Given the description of an element on the screen output the (x, y) to click on. 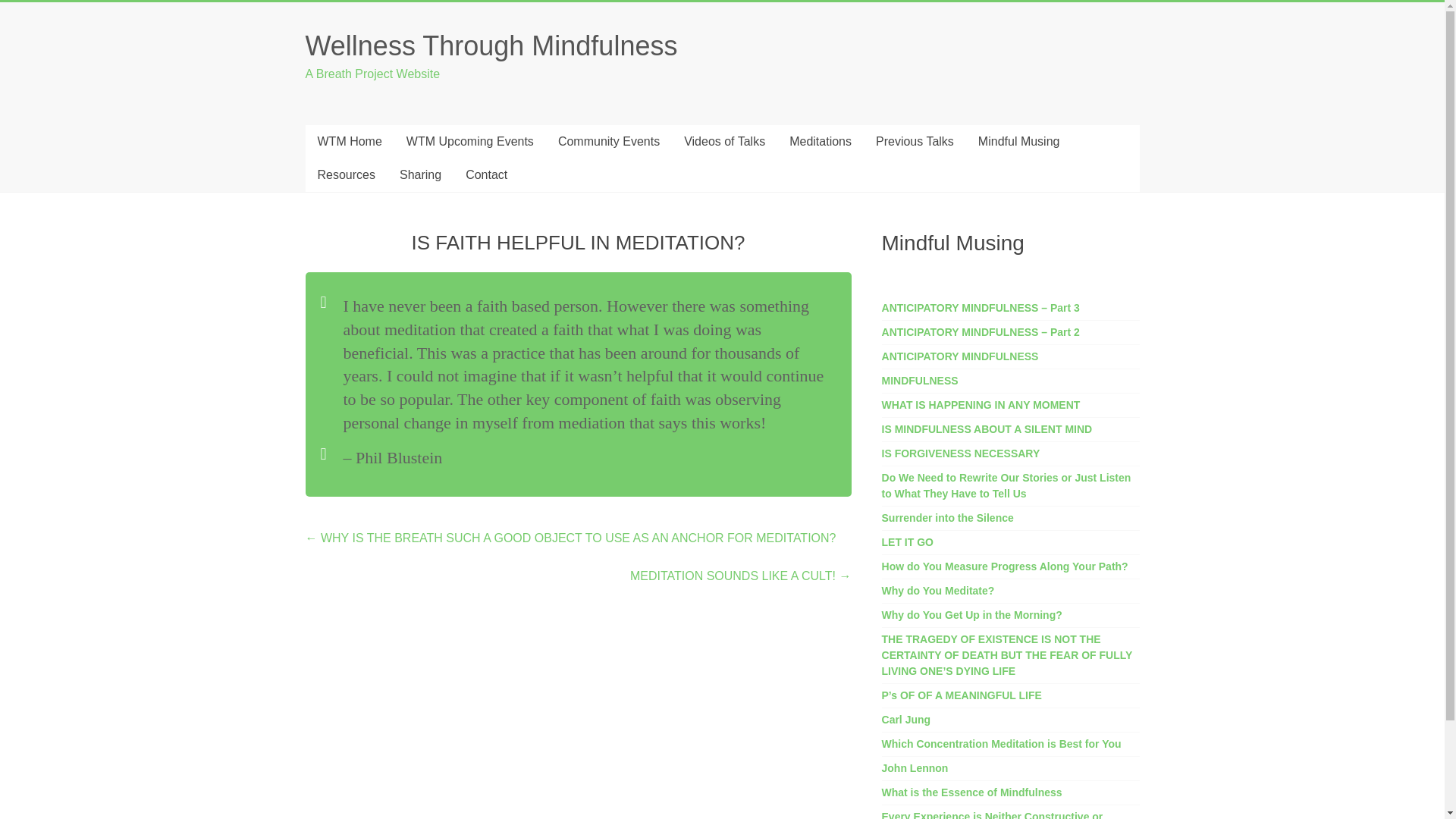
Mindful Musing (1018, 141)
WTM Home (348, 141)
A Breath Project Website (371, 73)
Community Events (608, 141)
Contact (485, 174)
Meditations (820, 141)
John Lennon (915, 767)
Previous Talks (914, 141)
Why do You Get Up in the Morning? (972, 614)
Why do You Meditate? (938, 590)
Videos of Talks (724, 141)
Every Experience is Neither Constructive or Destructive (992, 814)
Surrender into the Silence (947, 517)
Which Concentration Meditation is Best for You (1001, 743)
